Given the description of an element on the screen output the (x, y) to click on. 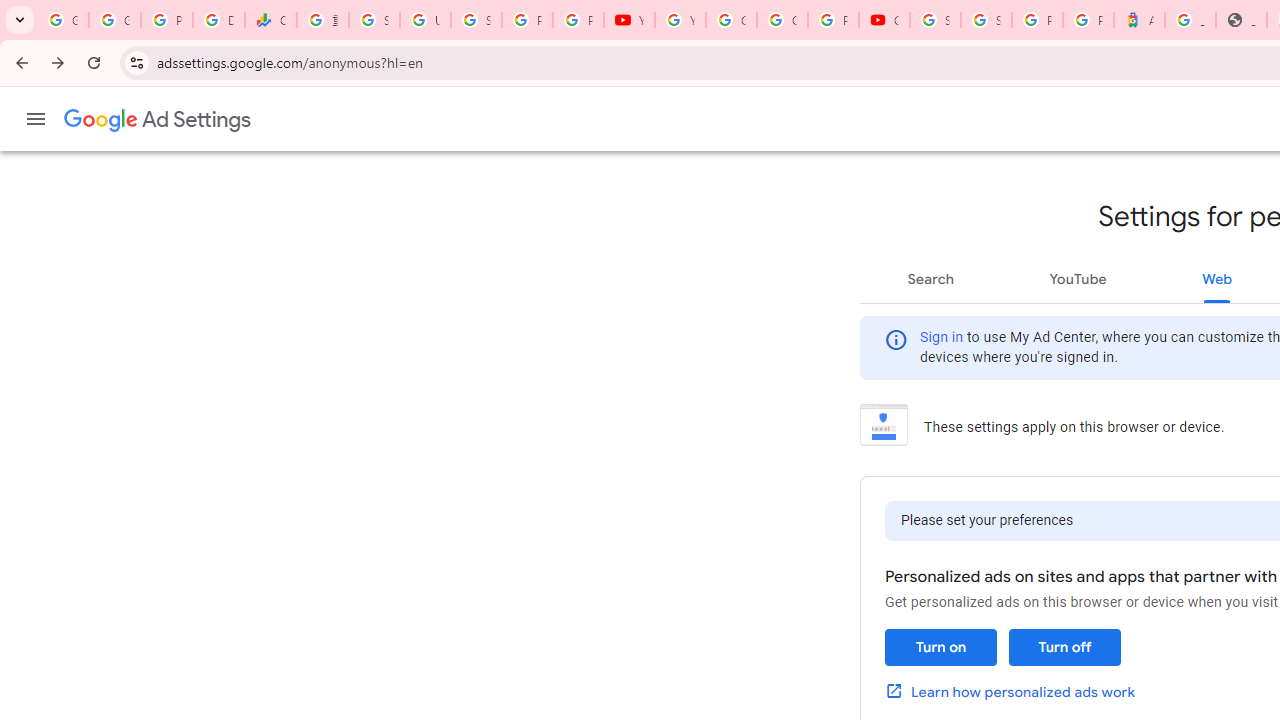
Sign in - Google Accounts (935, 20)
Create your Google Account (781, 20)
Content Creator Programs & Opportunities - YouTube Creators (884, 20)
Privacy Checkup (578, 20)
